Given the description of an element on the screen output the (x, y) to click on. 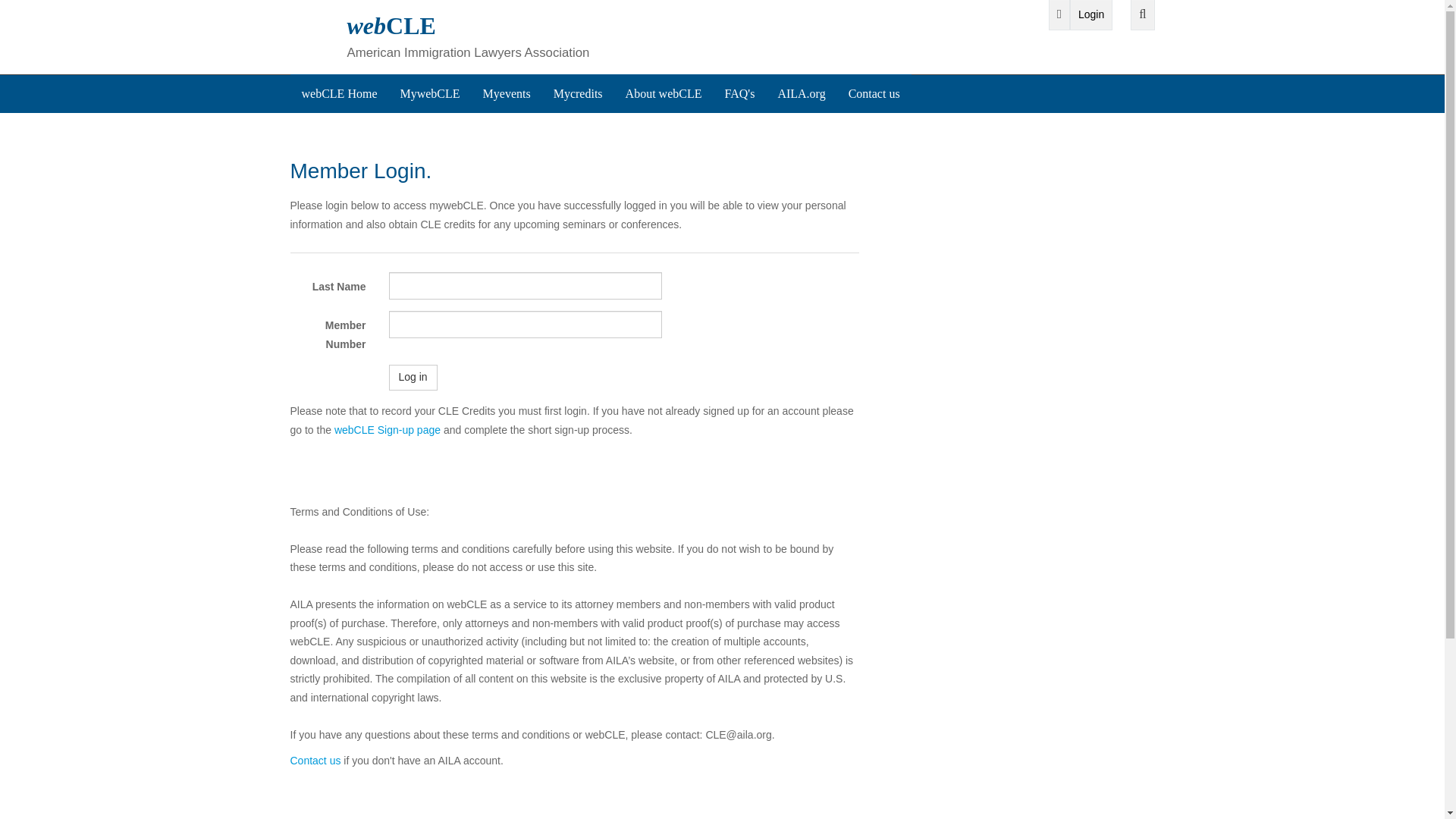
MywebCLE (429, 93)
AILA.org (800, 93)
Log in (412, 377)
Mycredits (577, 93)
Contact us (314, 760)
Contact us (874, 93)
Myevents (506, 93)
webCLE Home (338, 93)
FAQ's (739, 93)
About webCLE (663, 93)
webCLE Sign-up page (387, 429)
Log in (412, 377)
